Given the description of an element on the screen output the (x, y) to click on. 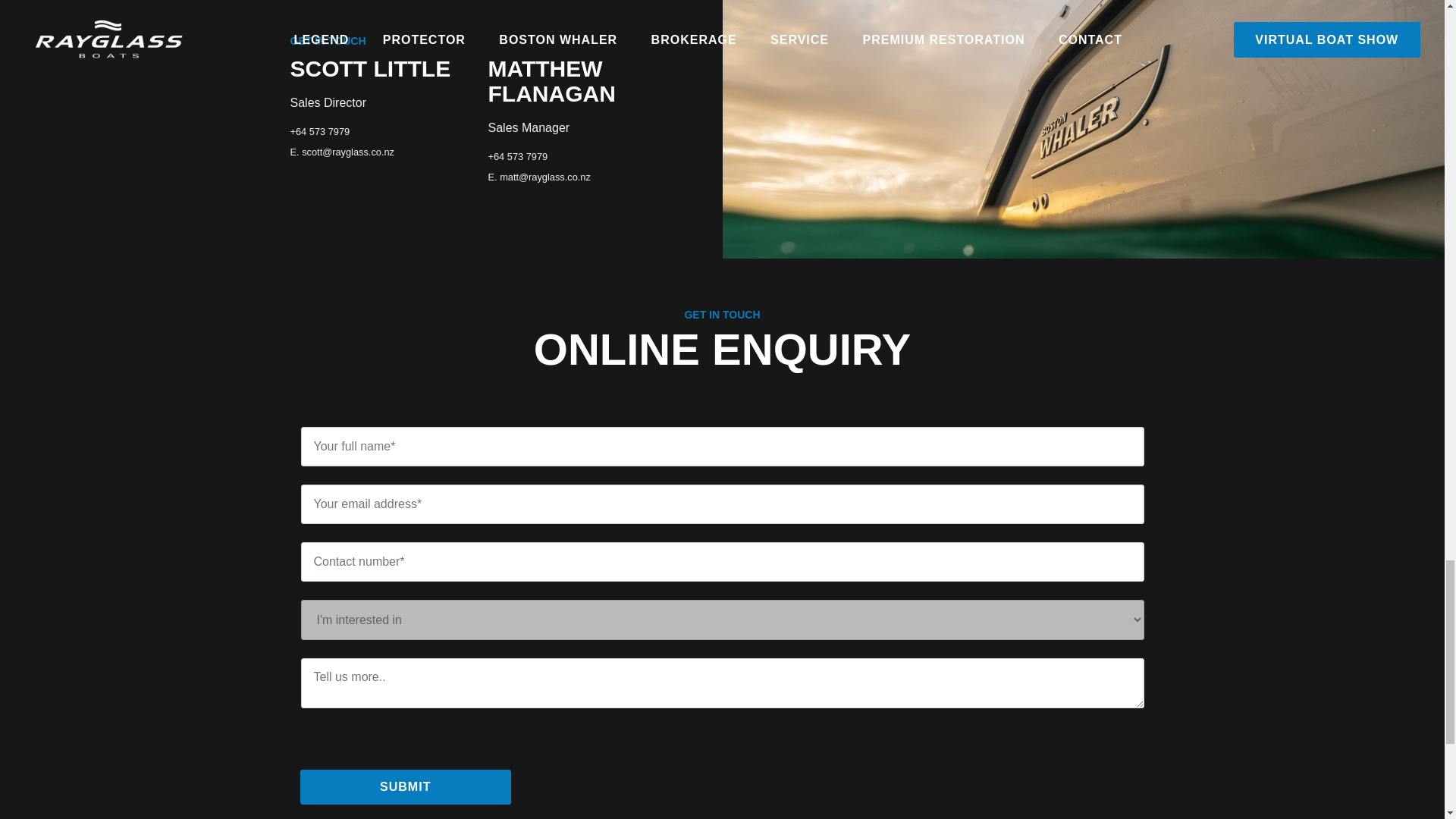
Submit (405, 786)
